Given the description of an element on the screen output the (x, y) to click on. 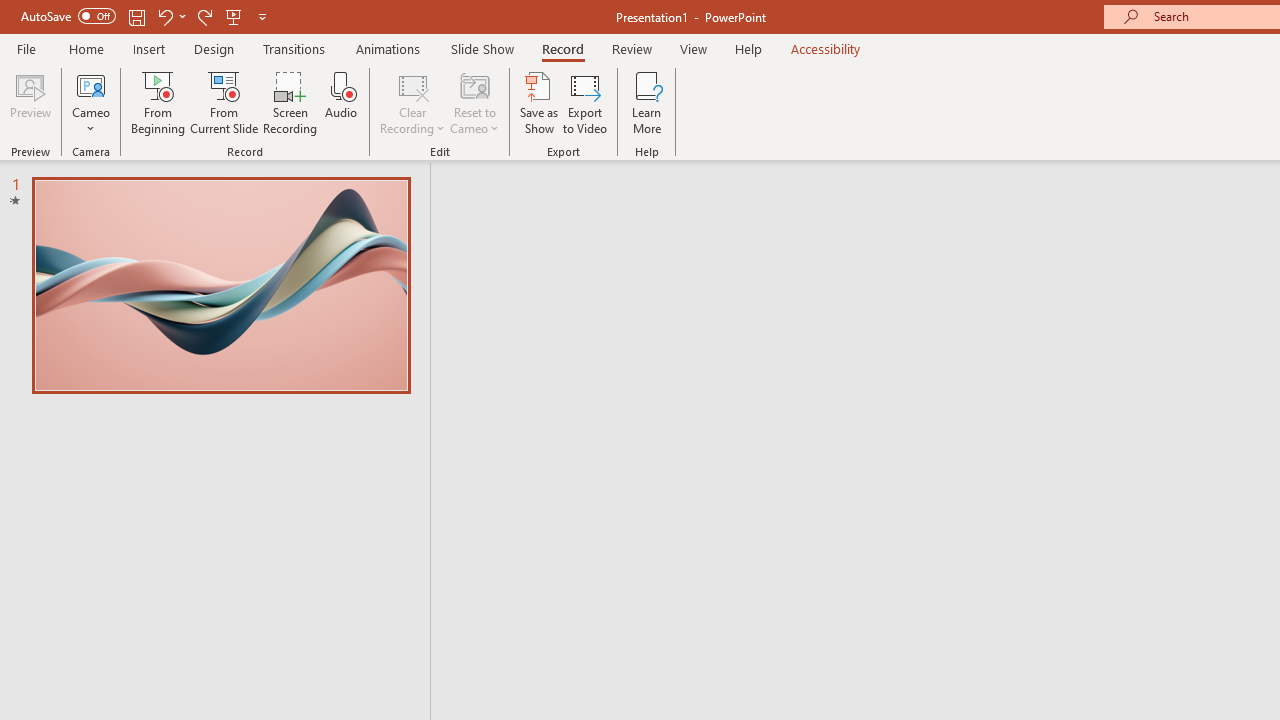
Audio (341, 102)
From Current Slide... (224, 102)
From Beginning... (158, 102)
